Given the description of an element on the screen output the (x, y) to click on. 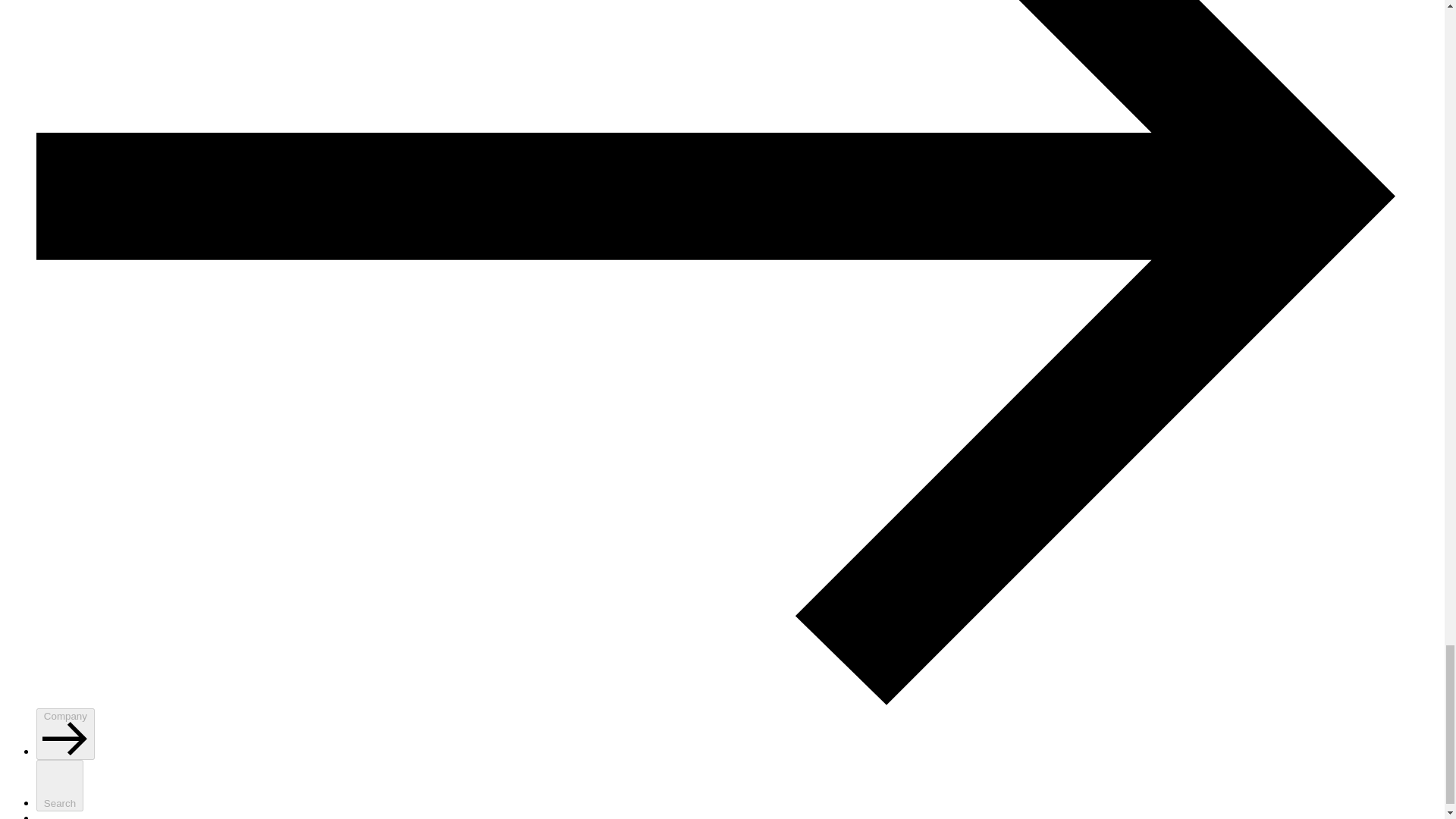
Search (59, 785)
Search (59, 785)
Company (65, 734)
